Given the description of an element on the screen output the (x, y) to click on. 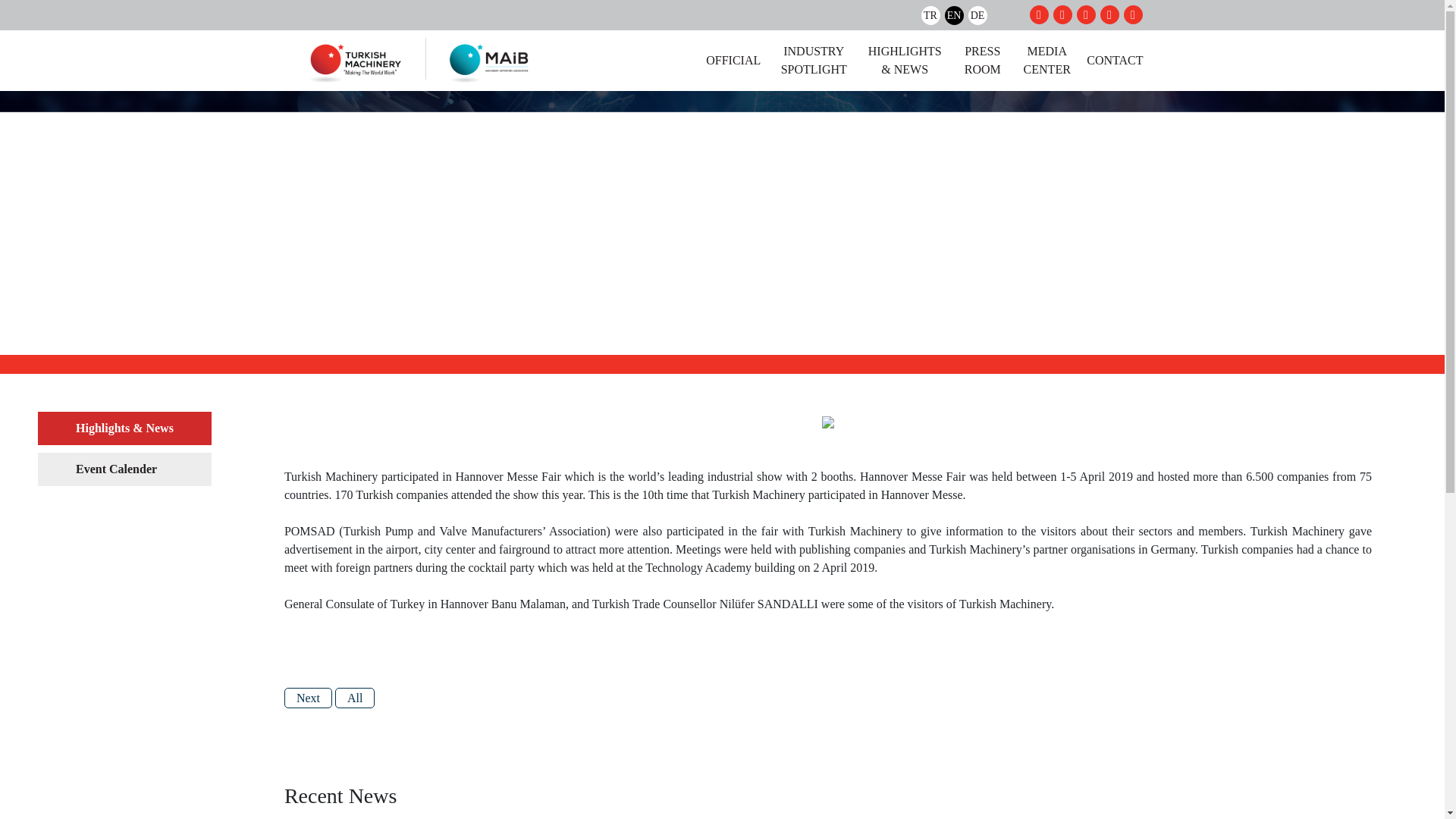
INDUSTRY SPOTLIGHT (813, 60)
OFFICIAL (733, 60)
DE (977, 15)
TR (929, 15)
Event Calender (124, 469)
Next (307, 697)
CONTACT (1114, 60)
All (354, 697)
PRESS ROOM (982, 60)
EN (953, 15)
